Given the description of an element on the screen output the (x, y) to click on. 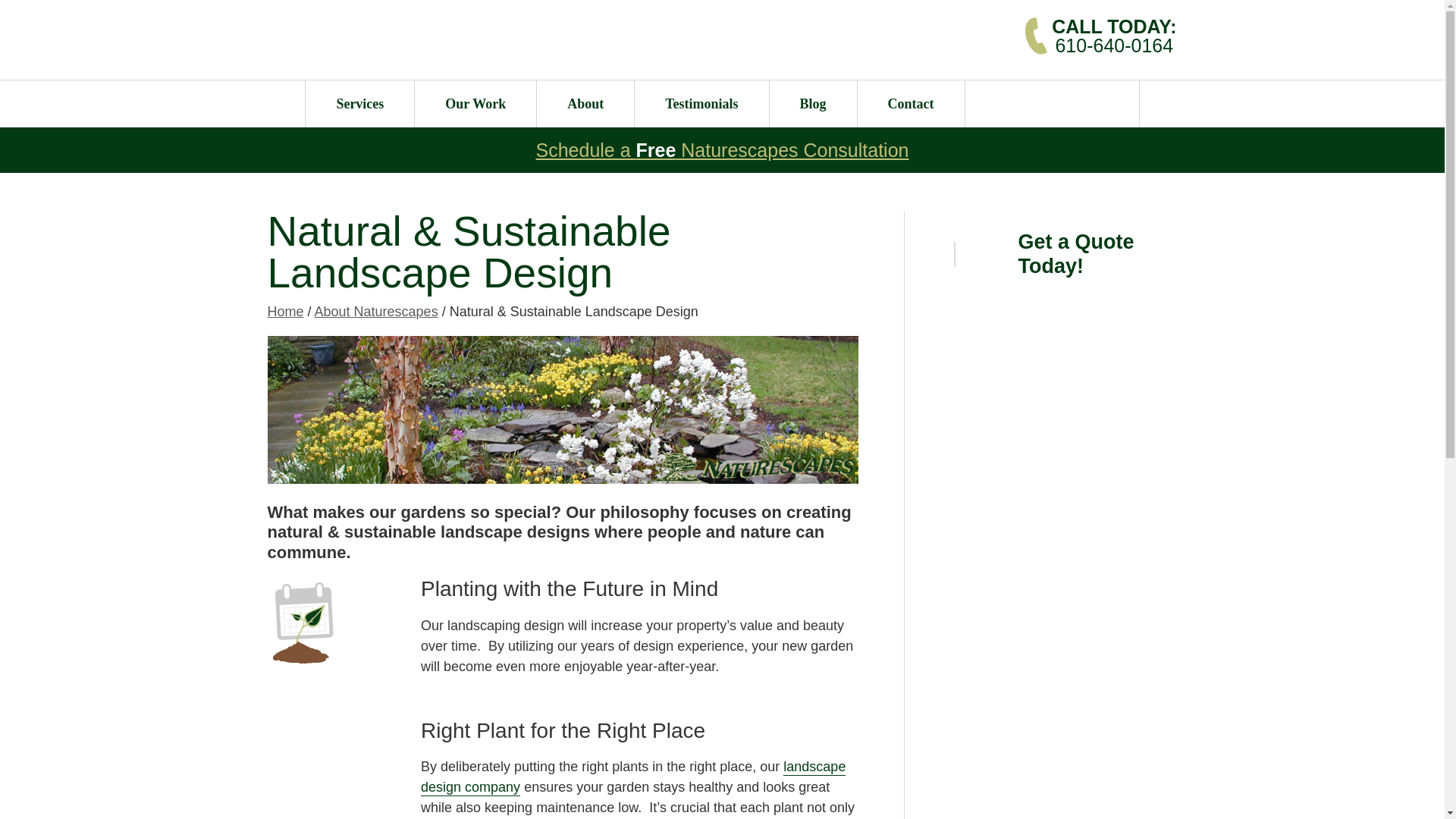
landscape design company (632, 777)
About Naturescapes (376, 311)
Home (284, 311)
Services (359, 103)
About (585, 103)
Testimonials (701, 103)
Contact (910, 103)
Schedule a Free Naturescapes Consultation (1113, 35)
Blog (721, 149)
Our Work (813, 103)
